Given the description of an element on the screen output the (x, y) to click on. 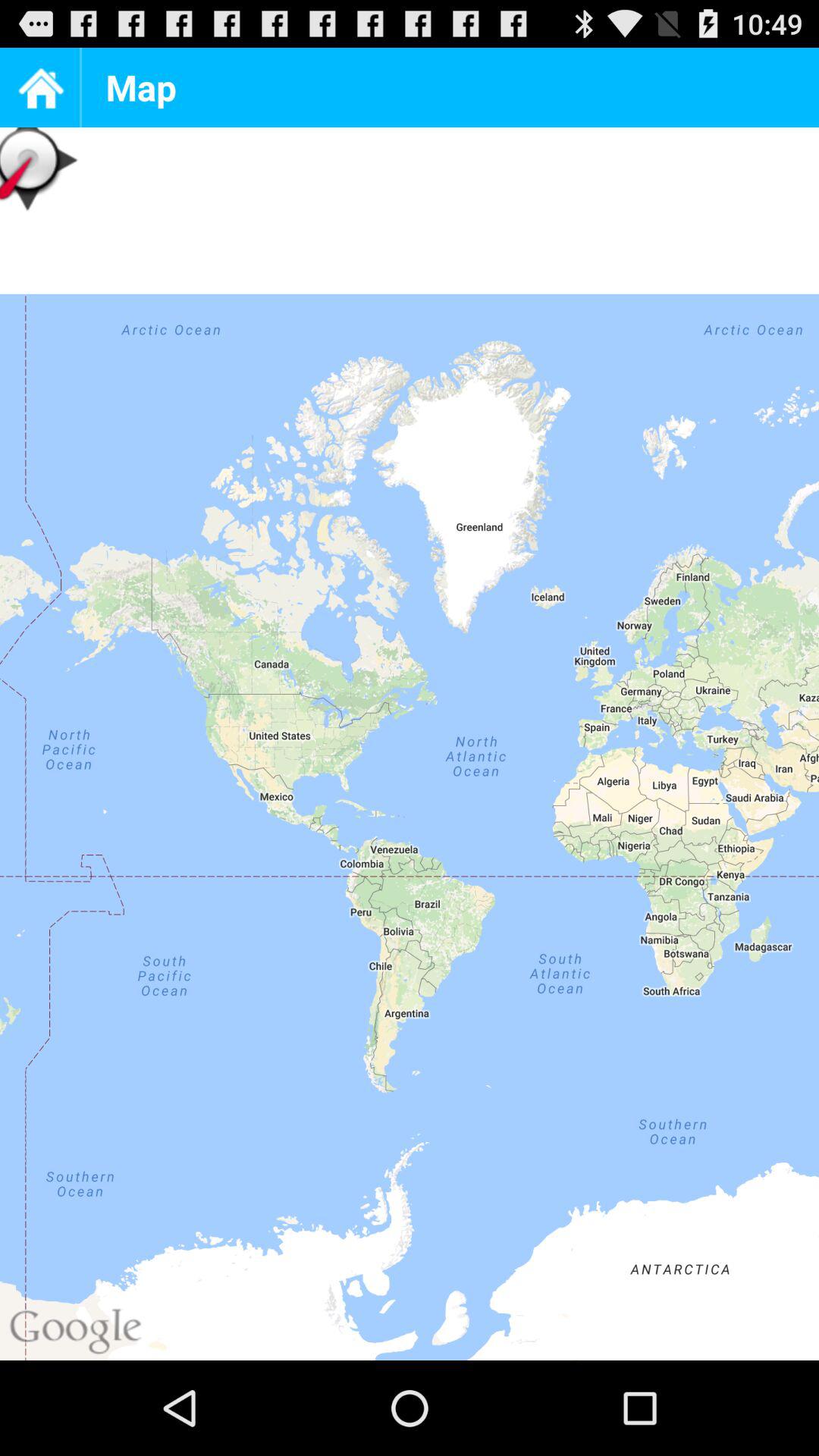
go to the home page (39, 87)
